Given the description of an element on the screen output the (x, y) to click on. 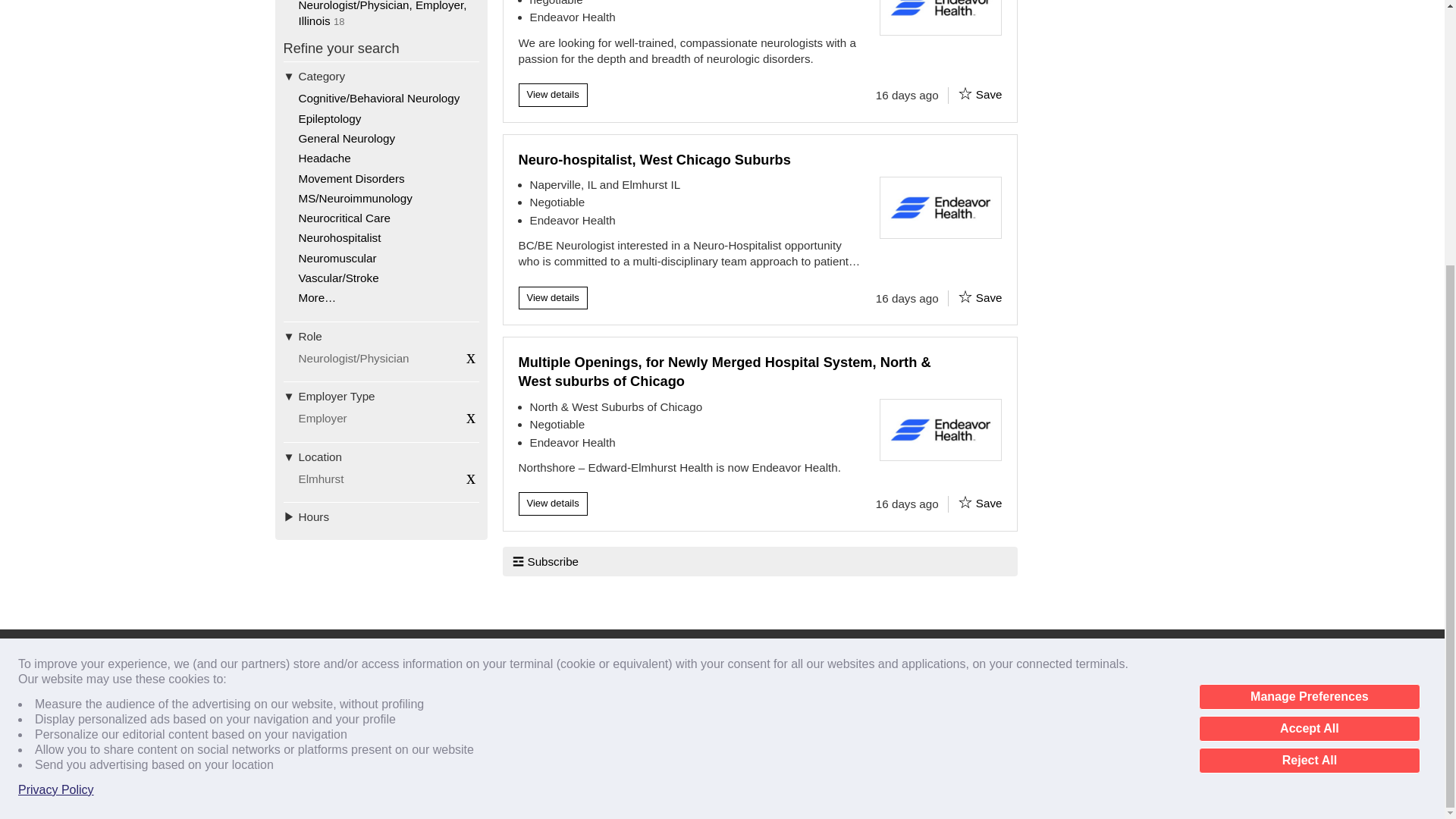
General Neurology (346, 137)
Neurocritical Care (344, 217)
Reject All (1309, 377)
Accept All (1309, 345)
Add to shortlist (965, 501)
Category (381, 75)
Movement Disorders (351, 178)
Role (381, 335)
Epileptology (329, 118)
Headache (324, 157)
Add to shortlist (965, 296)
Privacy Policy (55, 406)
Neuromuscular (337, 257)
Neurohospitalist (339, 237)
Manage Preferences (1309, 313)
